Given the description of an element on the screen output the (x, y) to click on. 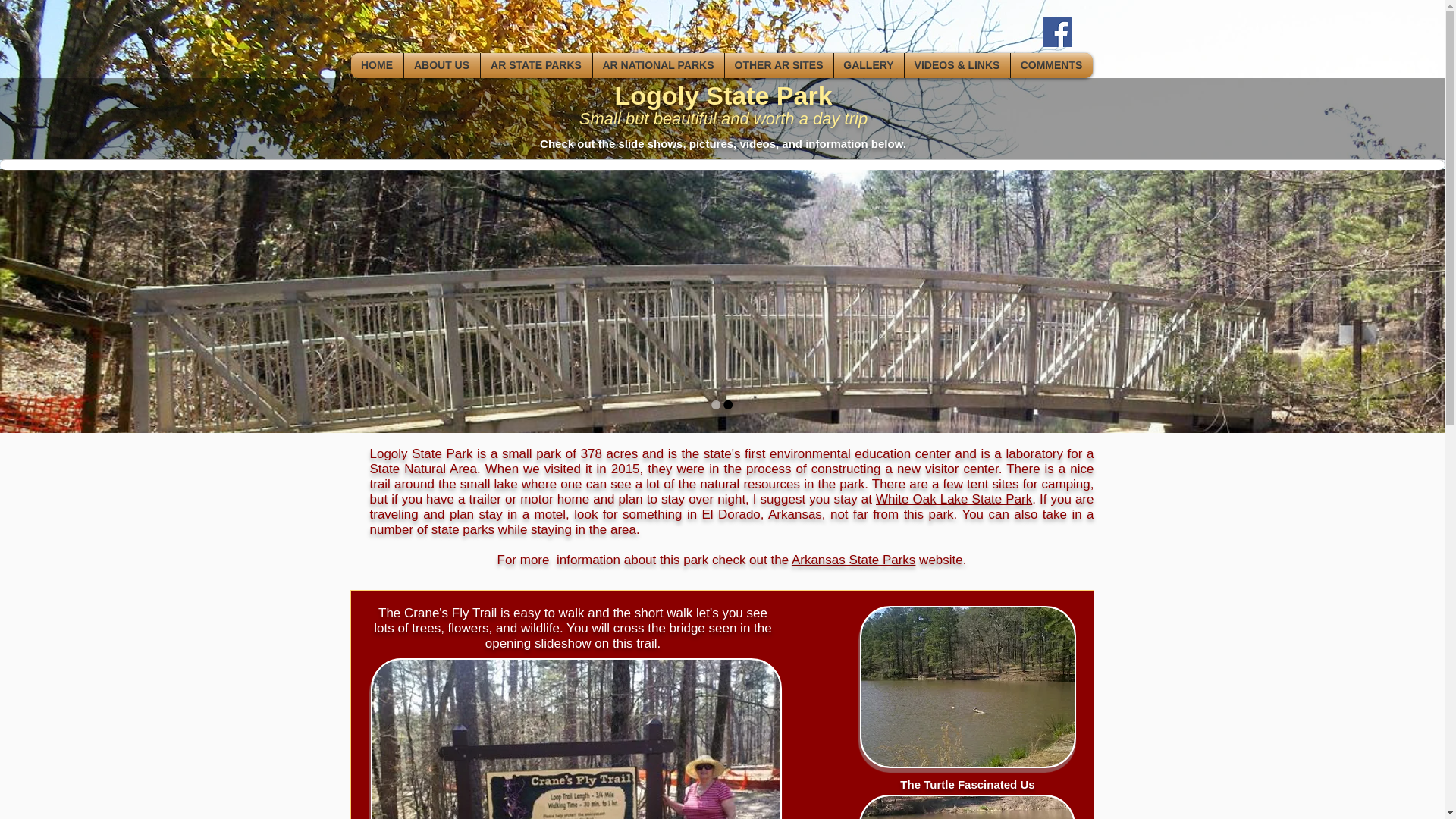
White Oak Lake State Park (954, 499)
OTHER AR SITES (778, 65)
HOME (376, 65)
AR NATIONAL PARKS (657, 65)
COMMENTS (1051, 65)
ABOUT US (441, 65)
GALLERY (869, 65)
AR STATE PARKS (536, 65)
Arkansas State Parks (853, 559)
